Given the description of an element on the screen output the (x, y) to click on. 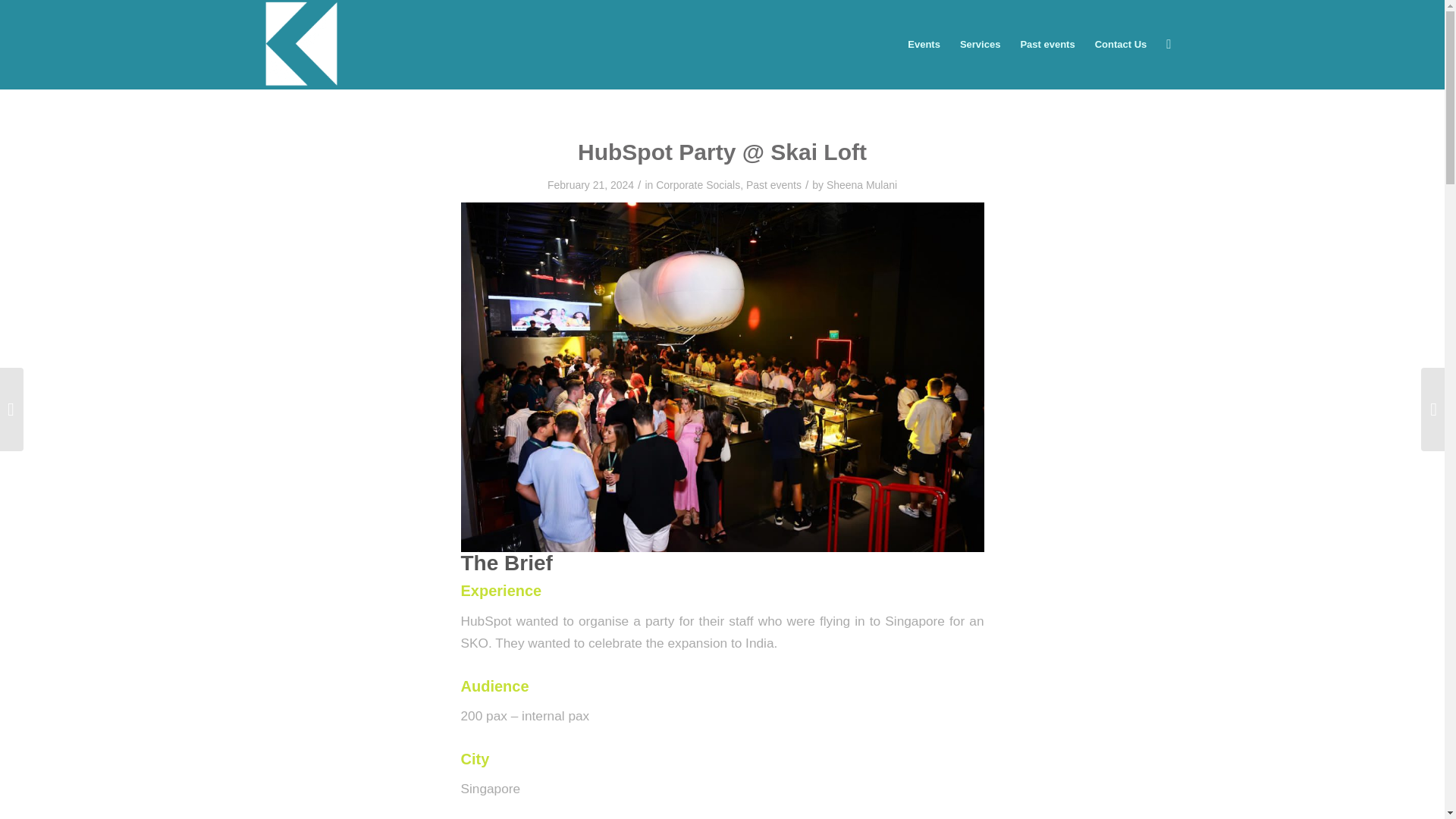
Corporate Socials (697, 184)
Posts by Sheena Mulani (861, 184)
Sheena Mulani (861, 184)
Past events (773, 184)
